Given the description of an element on the screen output the (x, y) to click on. 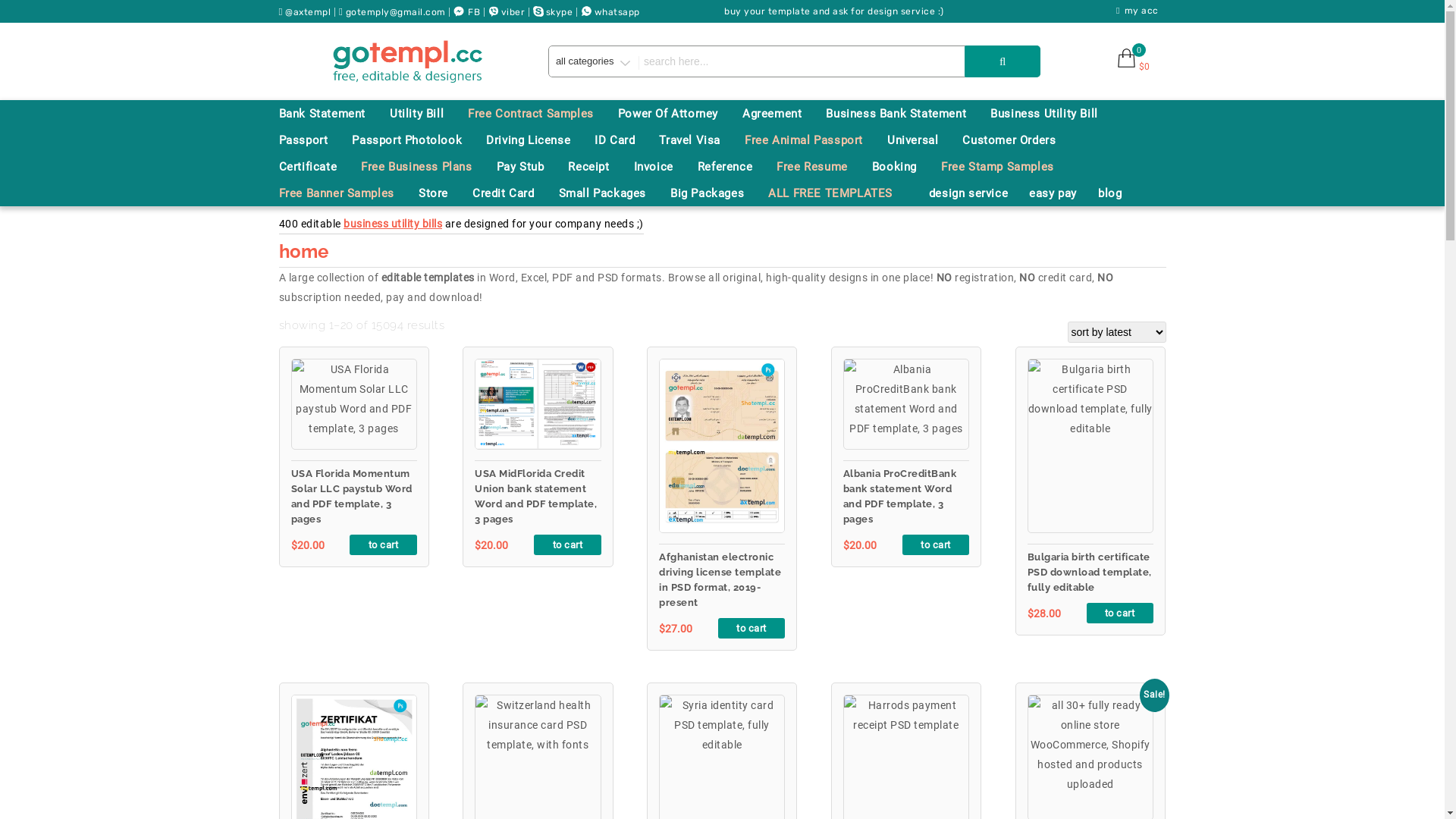
Free Business Plans Element type: text (426, 166)
to cart Element type: text (566, 544)
Reference Element type: text (735, 166)
easy pay Element type: text (1063, 192)
Free Resume Element type: text (822, 166)
to cart Element type: text (751, 628)
Free Banner Samples Element type: text (347, 192)
blog Element type: text (1120, 192)
Free Contract Samples Element type: text (541, 113)
Travel Visa Element type: text (699, 139)
skype Element type: text (559, 11)
0
$0 Element type: text (1131, 65)
Driving License Element type: text (538, 139)
Passport Element type: text (314, 139)
Pay Stub Element type: text (530, 166)
ID Card Element type: text (624, 139)
business utility bills Element type: text (392, 223)
Invoice Element type: text (663, 166)
Receipt Element type: text (598, 166)
Small Packages Element type: text (612, 192)
Free Animal Passport Element type: text (814, 139)
viber Element type: text (513, 11)
to cart Element type: text (1119, 612)
Free Stamp Samples Element type: text (1008, 166)
Store Element type: text (443, 192)
ALL FREE TEMPLATES Element type: text (840, 192)
my acc Element type: text (1140, 11)
Agreement Element type: text (782, 113)
Universal Element type: text (923, 139)
FB Element type: text (473, 11)
design service Element type: text (978, 192)
to cart Element type: text (935, 544)
Credit Card Element type: text (513, 192)
Bank Statement Element type: text (332, 113)
Passport Photolook Element type: text (417, 139)
Power Of Attorney Element type: text (678, 113)
Certificate Element type: text (318, 166)
Business Utility Bill Element type: text (1054, 113)
Customer Orders Element type: text (1019, 139)
Utility Bill Element type: text (426, 113)
whatsapp Element type: text (617, 11)
Big Packages Element type: text (717, 192)
Business Bank Statement Element type: text (906, 113)
 @axtempl Element type: text (306, 11)
Booking Element type: text (905, 166)
to cart Element type: text (382, 544)
gotemply@gmail.com Element type: text (395, 11)
